Given the description of an element on the screen output the (x, y) to click on. 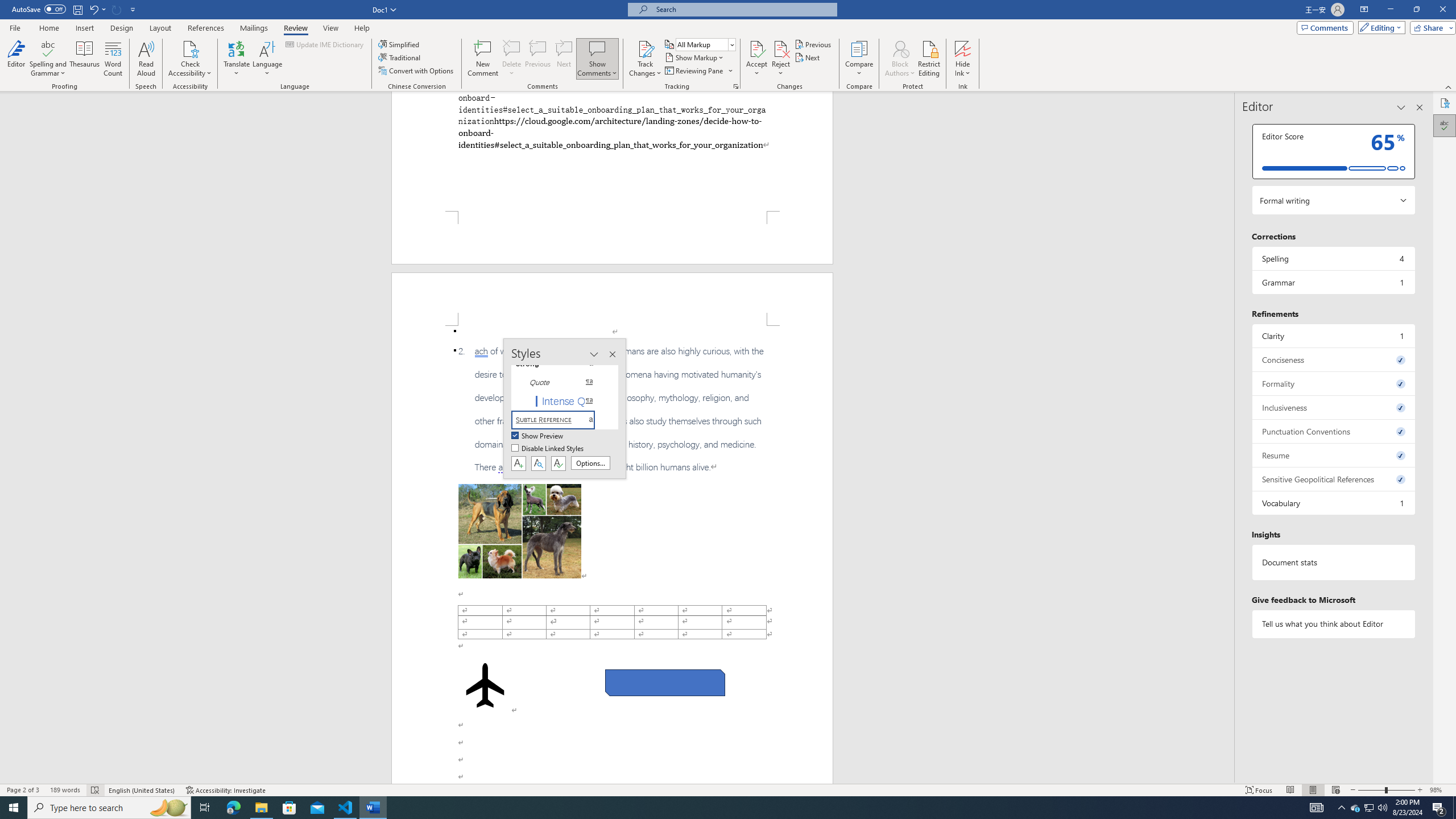
Word Count (113, 58)
Track Changes (644, 58)
Rectangle: Diagonal Corners Snipped 2 (665, 682)
Disable Linked Styles (548, 448)
Grammar, 1 issue. Press space or enter to review items. (1333, 282)
Spelling, 4 issues. Press space or enter to review items. (1333, 258)
Undo Paste (96, 9)
Resume, 0 issues. Press space or enter to review items. (1333, 454)
